Given the description of an element on the screen output the (x, y) to click on. 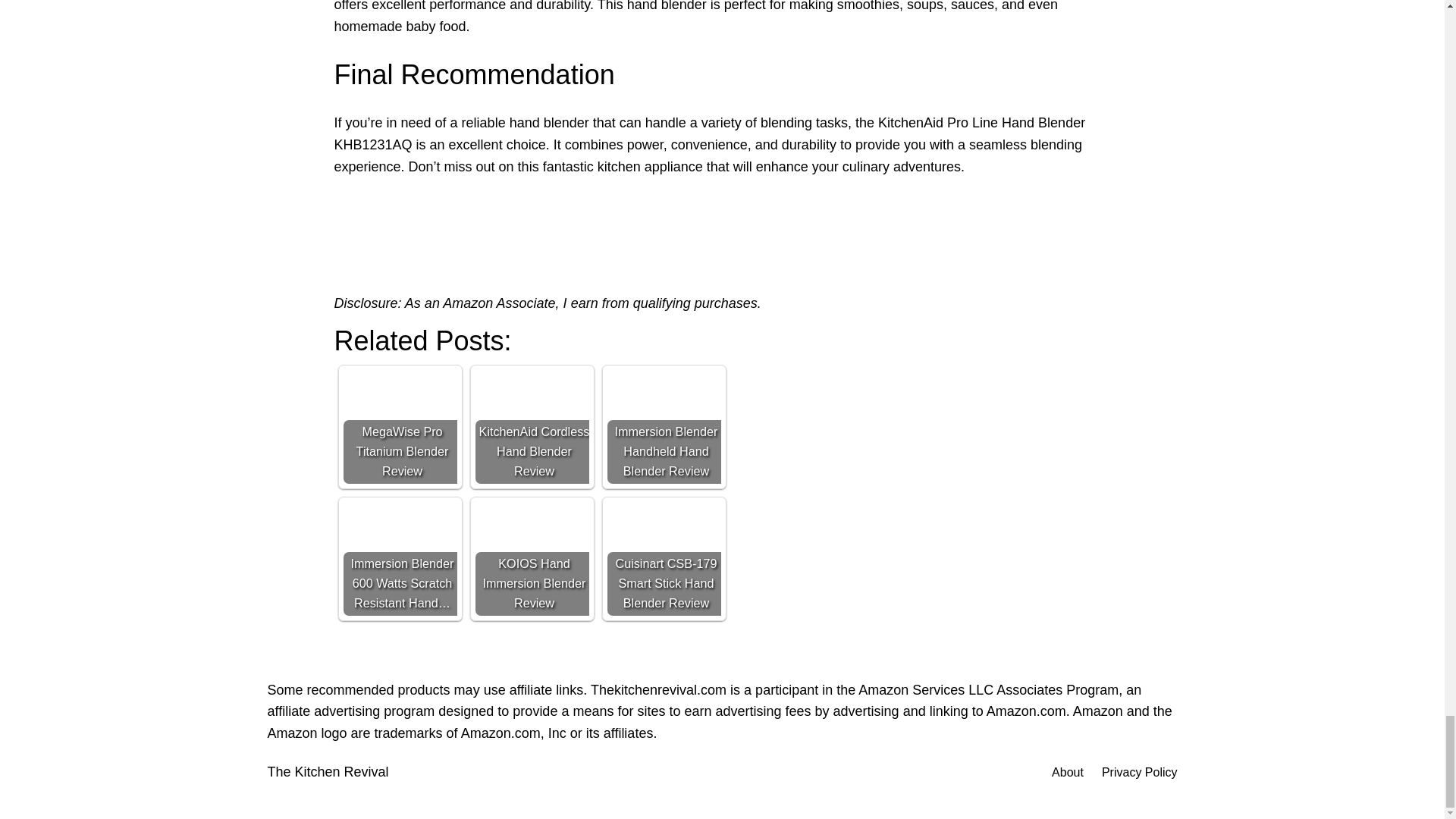
Immersion Blender Handheld Hand Blender Review (663, 427)
MegaWise Pro Titanium Blender Review (399, 427)
KOIOS Hand Immersion Blender Review (531, 558)
KitchenAid Cordless Hand Blender Review (531, 427)
Immersion Blender Handheld Hand Blender Review (663, 427)
The Kitchen Revival (327, 771)
About (1067, 772)
Privacy Policy (1139, 772)
Cuisinart CSB-179 Smart Stick Hand Blender Review (663, 558)
